Given the description of an element on the screen output the (x, y) to click on. 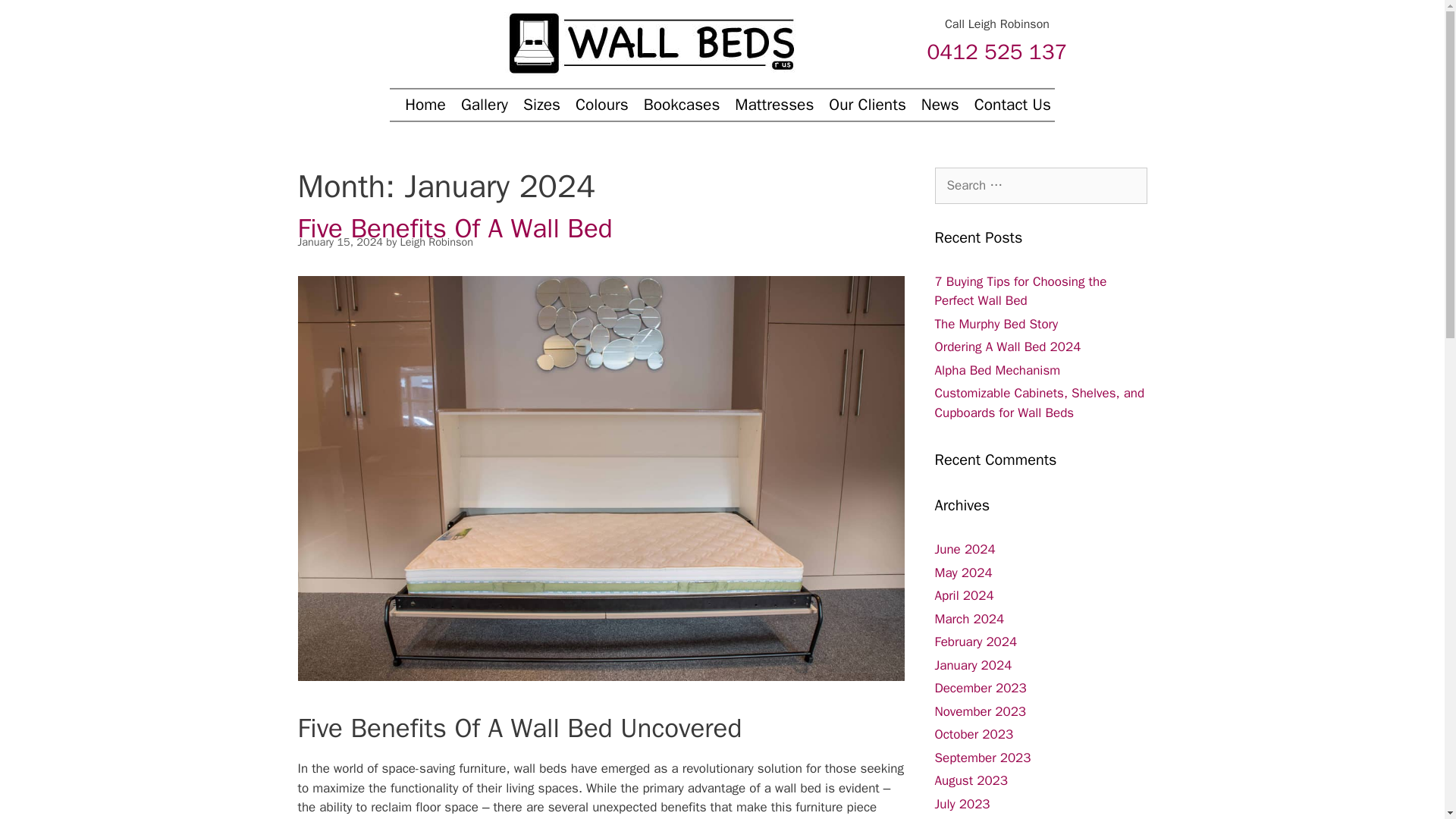
WALL-BRDS-R-US-LOGO-400px (649, 41)
Alpha Bed Mechanism (996, 370)
Five Benefits Of A Wall Bed (454, 227)
November 2023 (980, 711)
Ordering A Wall Bed 2024 (1007, 346)
Mattresses (767, 104)
July 2023 (962, 804)
September 2023 (982, 756)
Sizes (536, 104)
Leigh Robinson (437, 241)
